Given the description of an element on the screen output the (x, y) to click on. 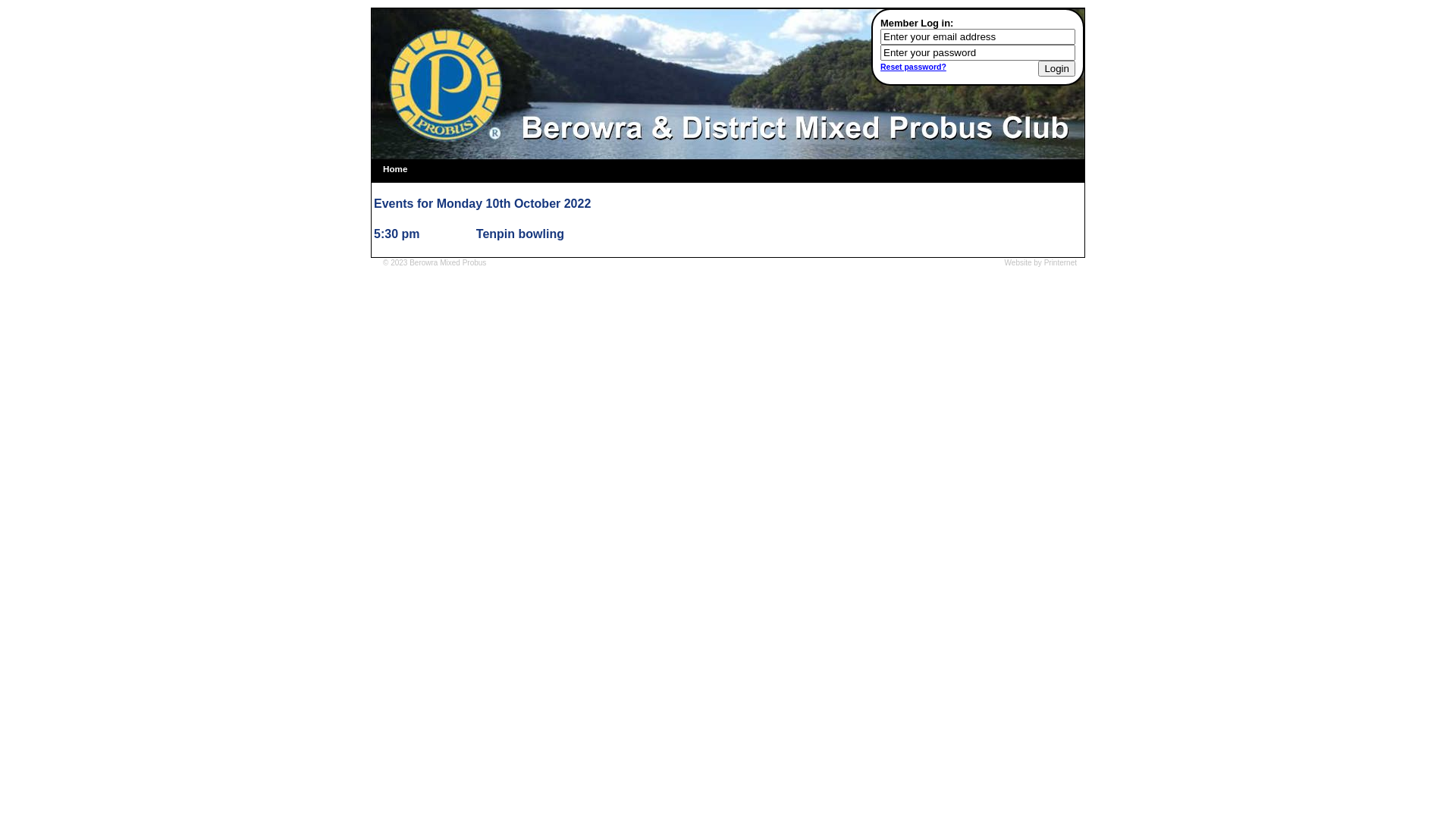
Login Element type: text (1056, 68)
Printernet Element type: text (1060, 262)
Home Element type: text (394, 171)
Enter your email address Element type: text (977, 36)
Reset password? Element type: text (913, 66)
Enter your password Element type: text (977, 52)
